Given the description of an element on the screen output the (x, y) to click on. 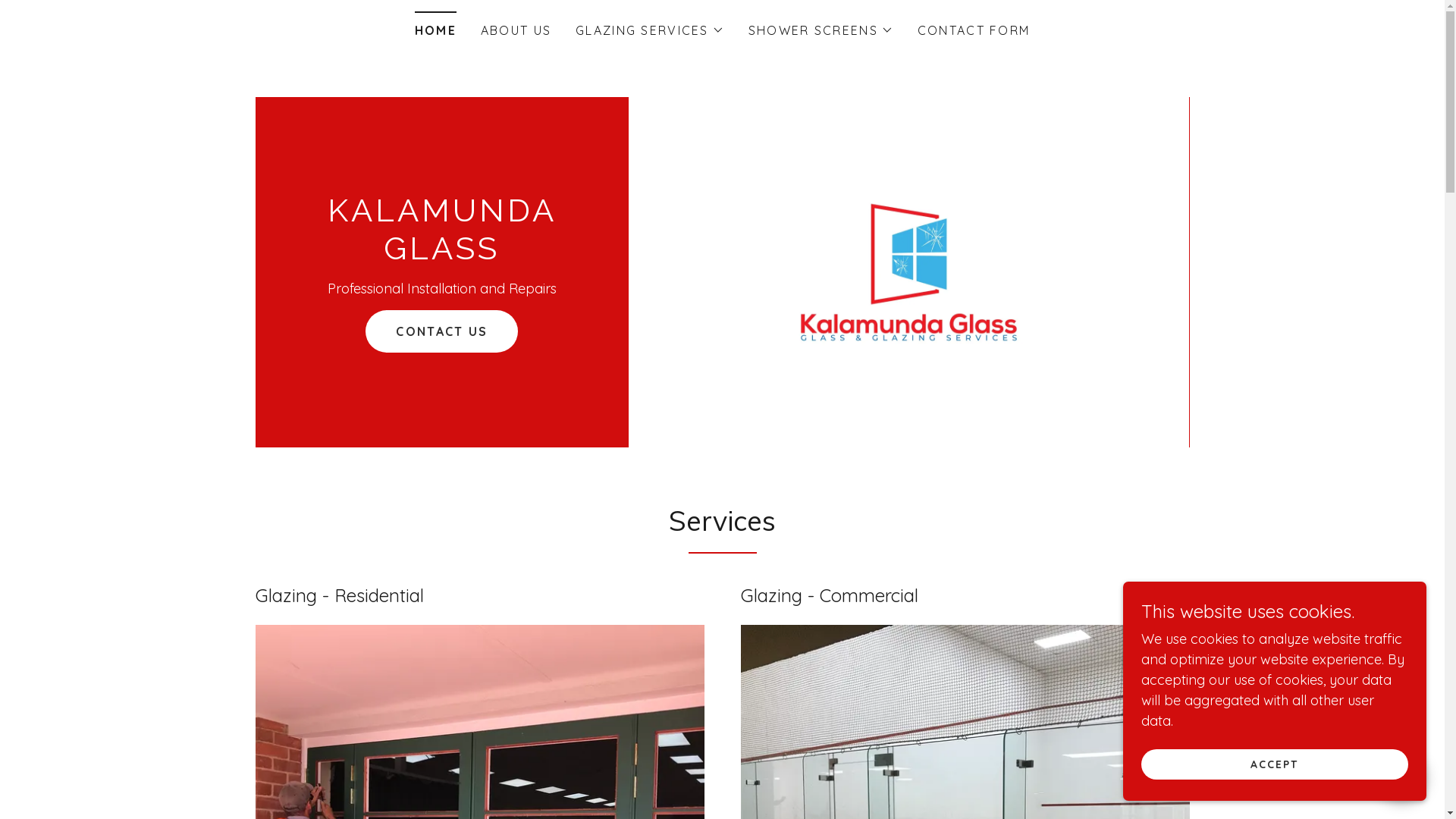
HOME Element type: text (435, 25)
GLAZING SERVICES Element type: text (649, 30)
SHOWER SCREENS Element type: text (820, 30)
CONTACT FORM Element type: text (973, 29)
ABOUT US Element type: text (515, 29)
KALAMUNDA GLASS Element type: text (441, 254)
CONTACT US Element type: text (441, 331)
ACCEPT Element type: text (1274, 764)
